Given the description of an element on the screen output the (x, y) to click on. 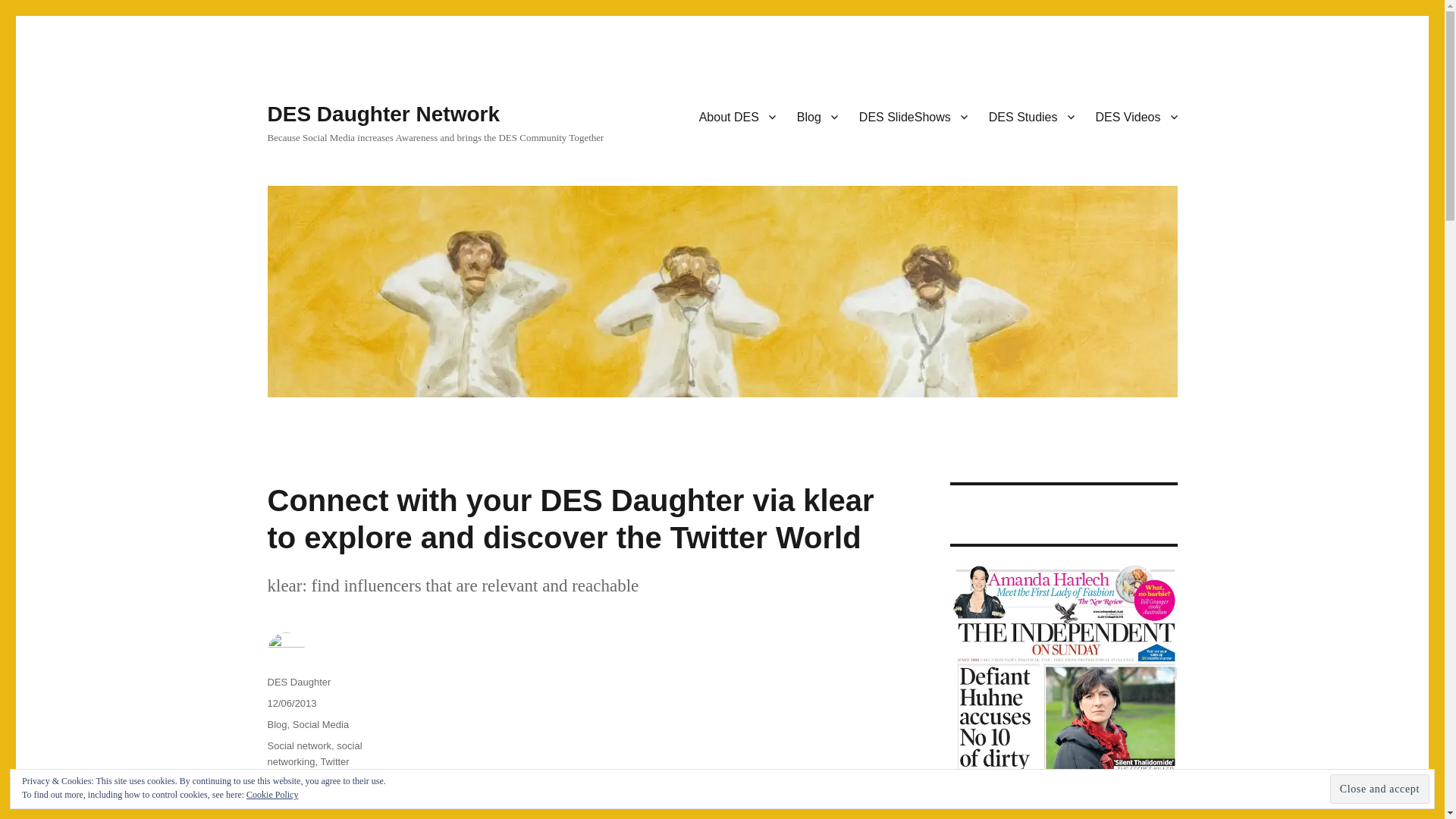
Close and accept (1379, 788)
DES Daughter Network (382, 114)
About DES (737, 116)
DES Videos (1136, 116)
DES SlideShows (913, 116)
All posts (817, 116)
DES Studies (1031, 116)
Blog (817, 116)
